Given the description of an element on the screen output the (x, y) to click on. 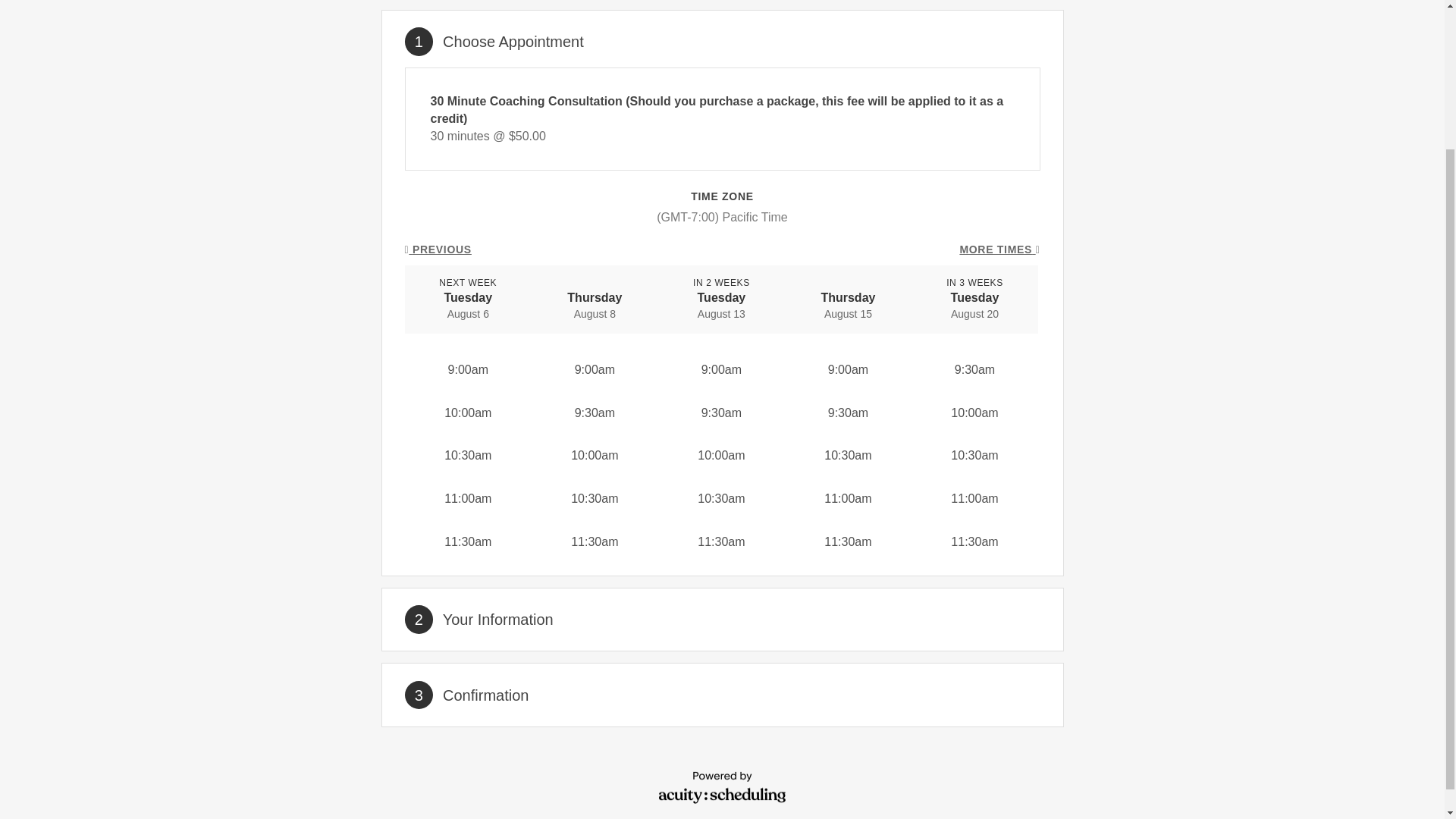
PREVIOUS (437, 249)
Choose Appointment (512, 41)
MORE TIMES (999, 249)
